Given the description of an element on the screen output the (x, y) to click on. 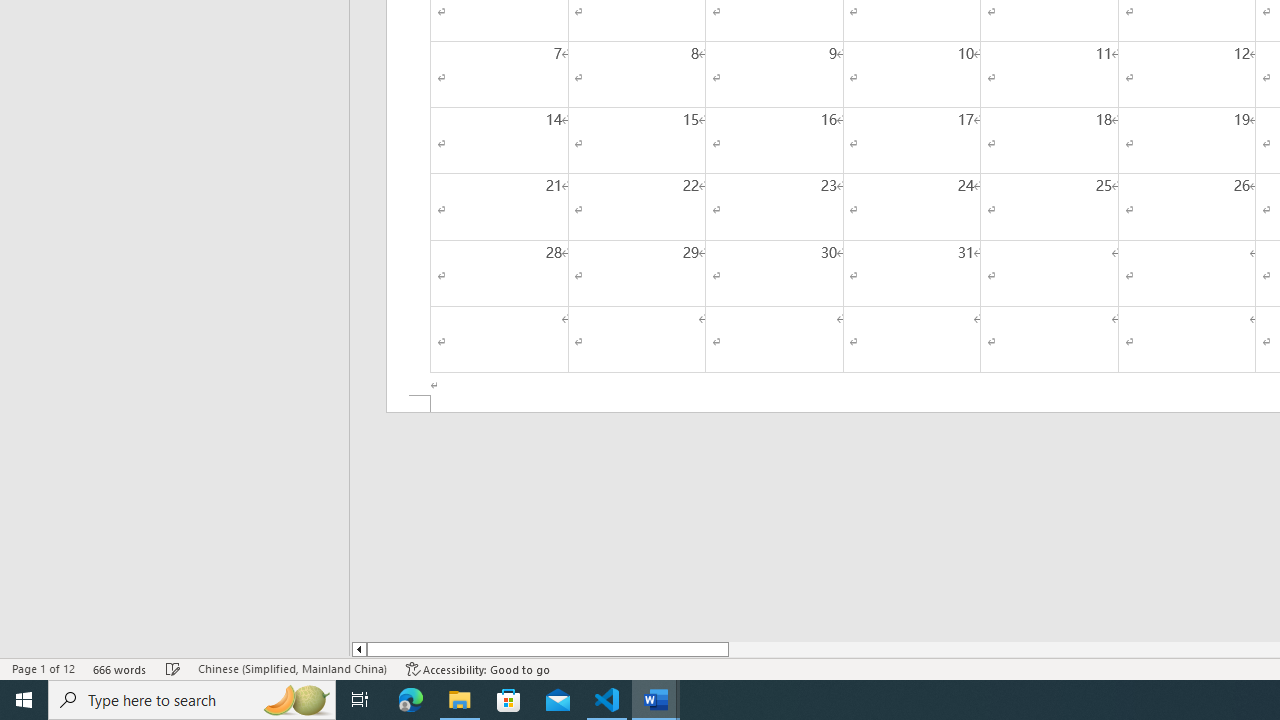
Accessibility Checker Accessibility: Good to go (478, 668)
Page Number Page 1 of 12 (43, 668)
Spelling and Grammar Check Checking (173, 668)
Language Chinese (Simplified, Mainland China) (292, 668)
Word Count 666 words (119, 668)
Column left (358, 649)
